Given the description of an element on the screen output the (x, y) to click on. 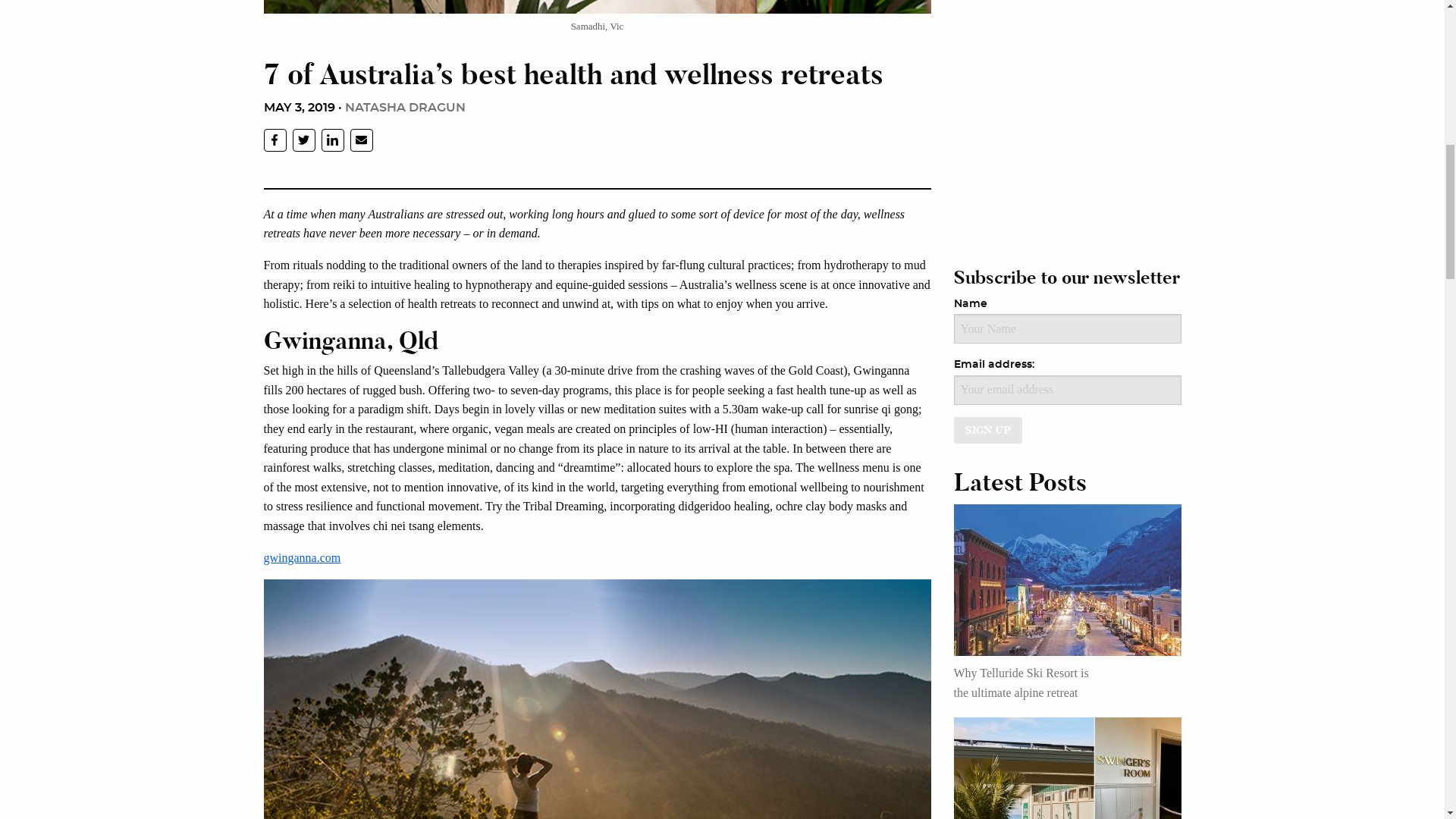
Posts by Natasha Dragun (403, 107)
Share on Facebook (274, 139)
Sign up (988, 429)
Share on Twitter (303, 139)
Advertisement (1067, 94)
Share on LinkedIn (332, 139)
Share by Email (361, 139)
